Given the description of an element on the screen output the (x, y) to click on. 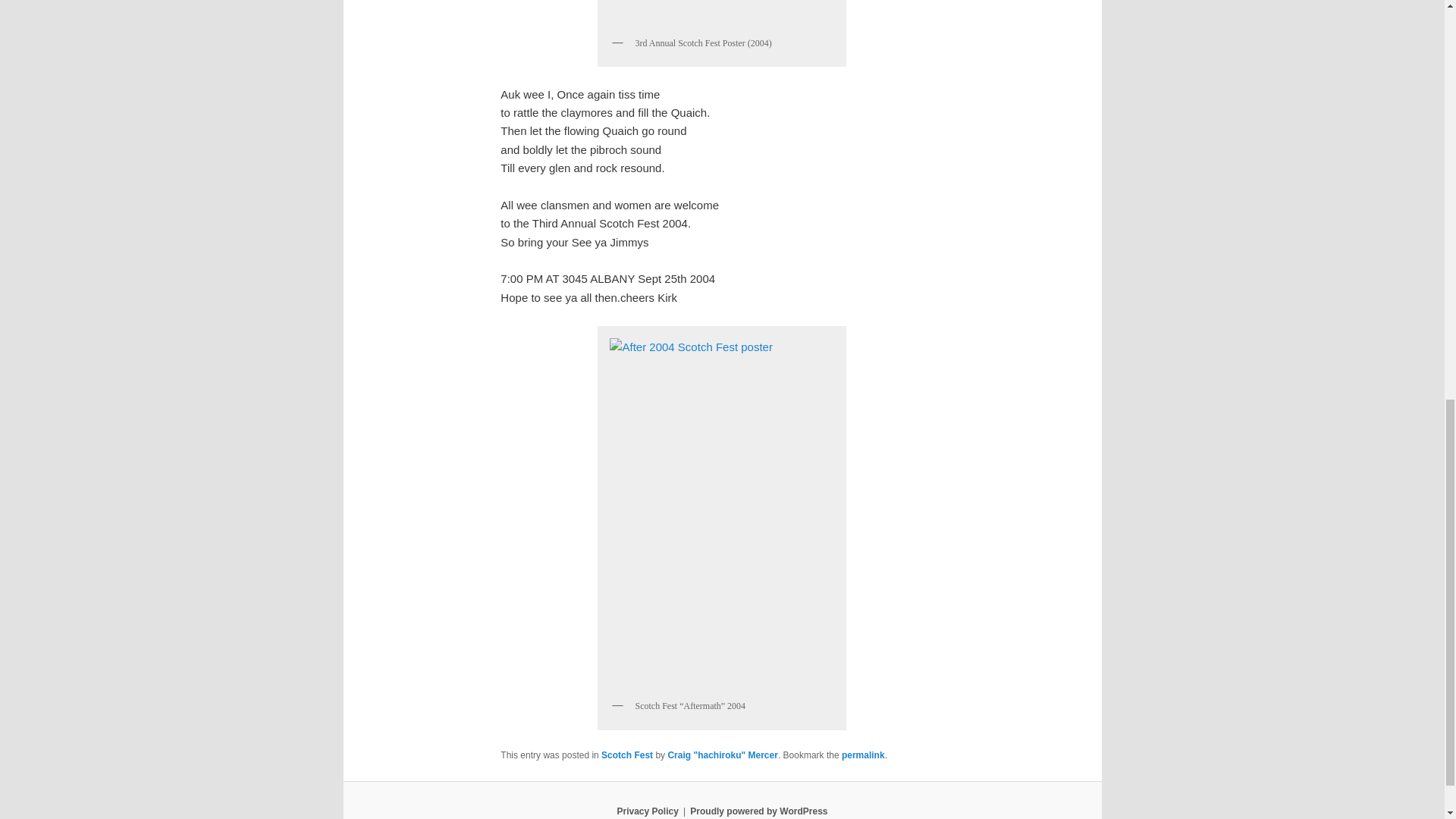
Craig "hachiroku" Mercer (721, 755)
Semantic Personal Publishing Platform (758, 810)
permalink (863, 755)
Proudly powered by WordPress (758, 810)
Scotch Fest (626, 755)
Permalink to Scotch Fest 2004 (863, 755)
Privacy Policy (646, 810)
